Given the description of an element on the screen output the (x, y) to click on. 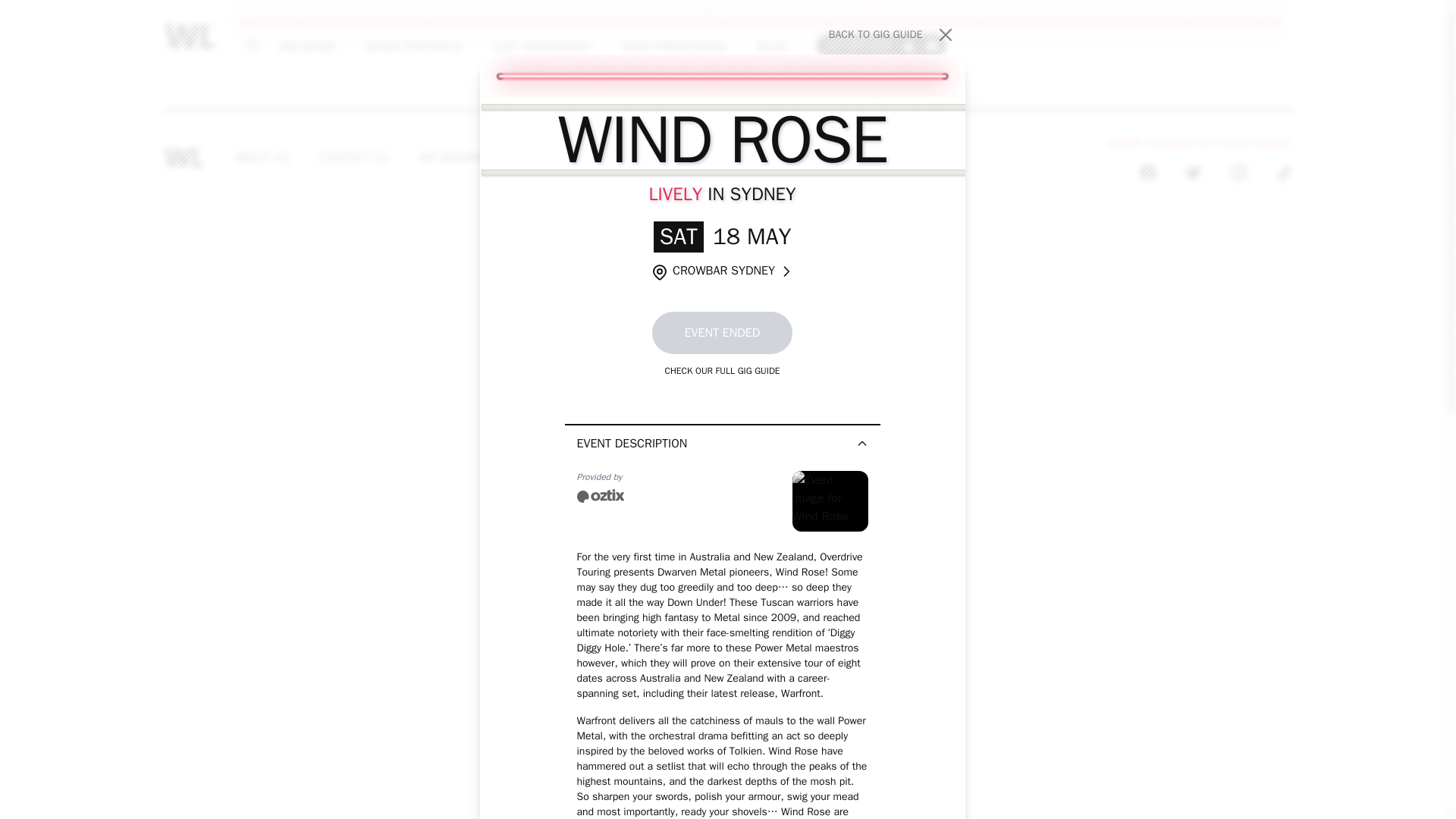
JUST ANNOUNCED (541, 45)
MUSIC FESTIVALS (413, 45)
BLOG (771, 45)
ABOUT US (261, 157)
CONTACT US (354, 157)
TOUR PREDICTIONS (673, 45)
GET APP NOW (881, 44)
MARKETING AGENCY (768, 157)
ADVERTISE YOUR TOUR (892, 34)
